Given the description of an element on the screen output the (x, y) to click on. 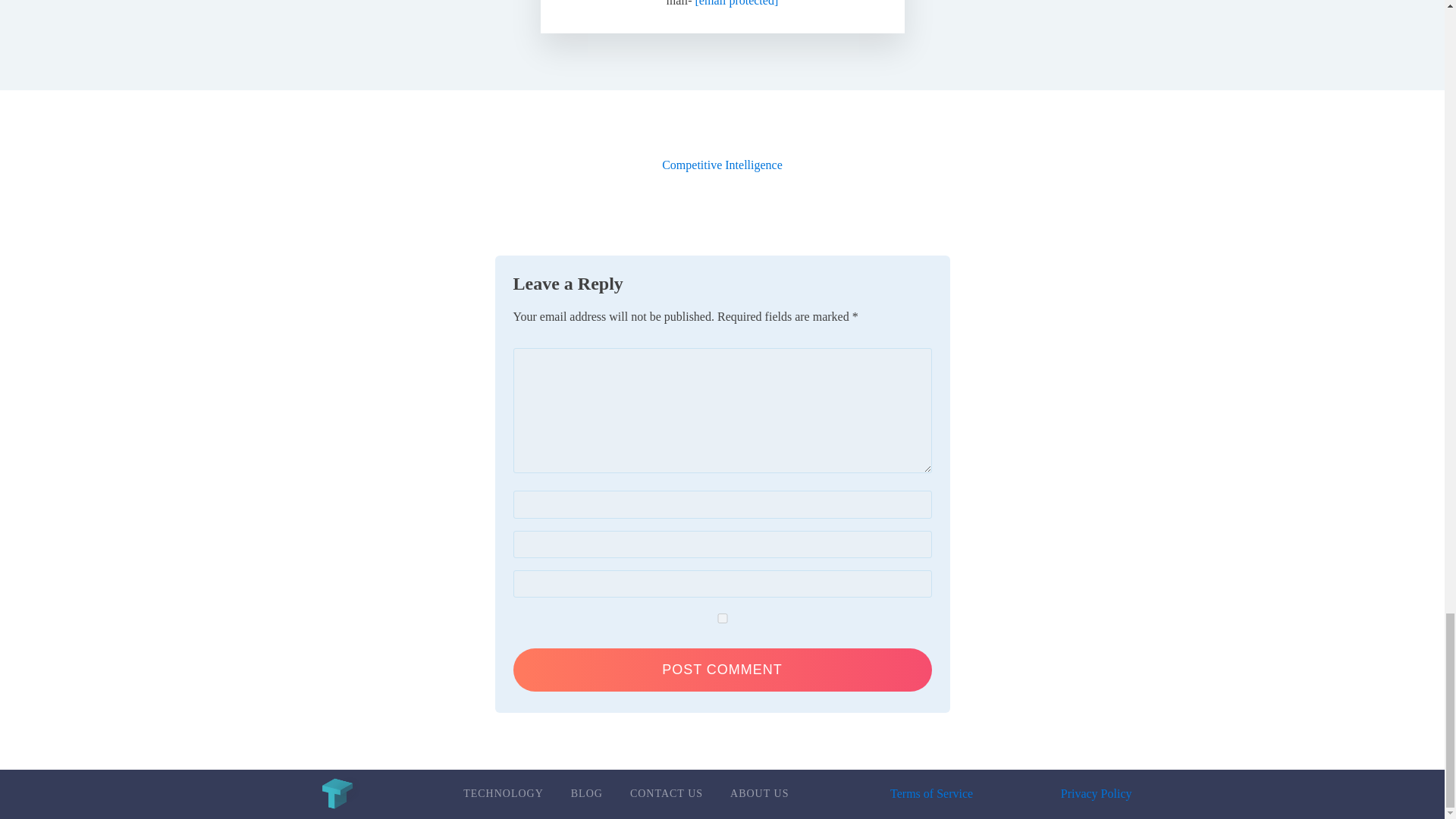
yes (721, 618)
Competitive Intelligence (722, 164)
Post Comment (721, 669)
